Given the description of an element on the screen output the (x, y) to click on. 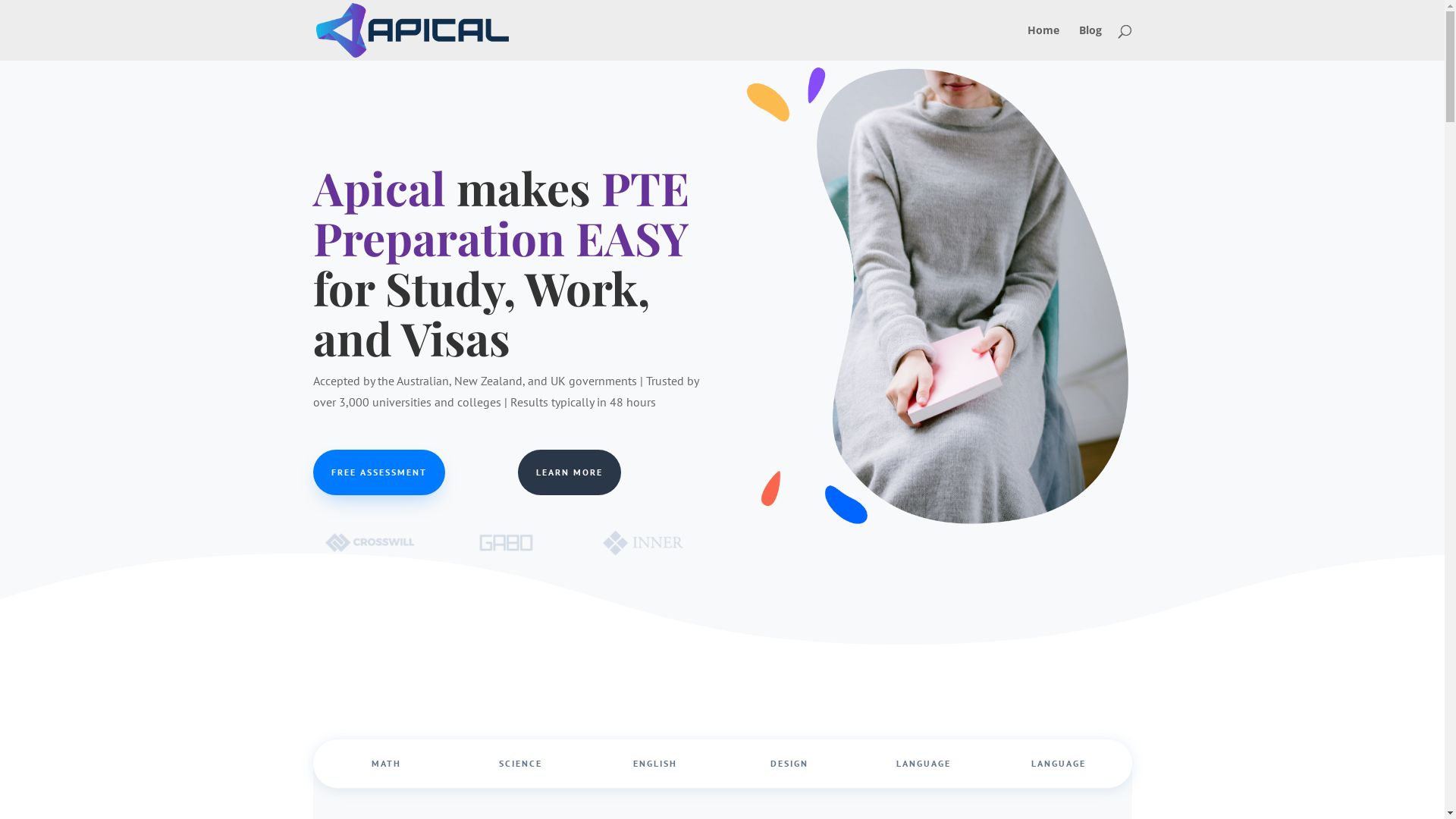
SCIENCE Element type: text (520, 763)
Home Element type: text (1042, 42)
DESIGN Element type: text (789, 763)
ENGLISH Element type: text (654, 763)
MATH Element type: text (385, 763)
LANGUAGE Element type: text (1058, 763)
LANGUAGE Element type: text (923, 763)
LEARN MORE Element type: text (569, 472)
FREE ASSESSMENT Element type: text (378, 472)
Blog Element type: text (1089, 42)
